Given the description of an element on the screen output the (x, y) to click on. 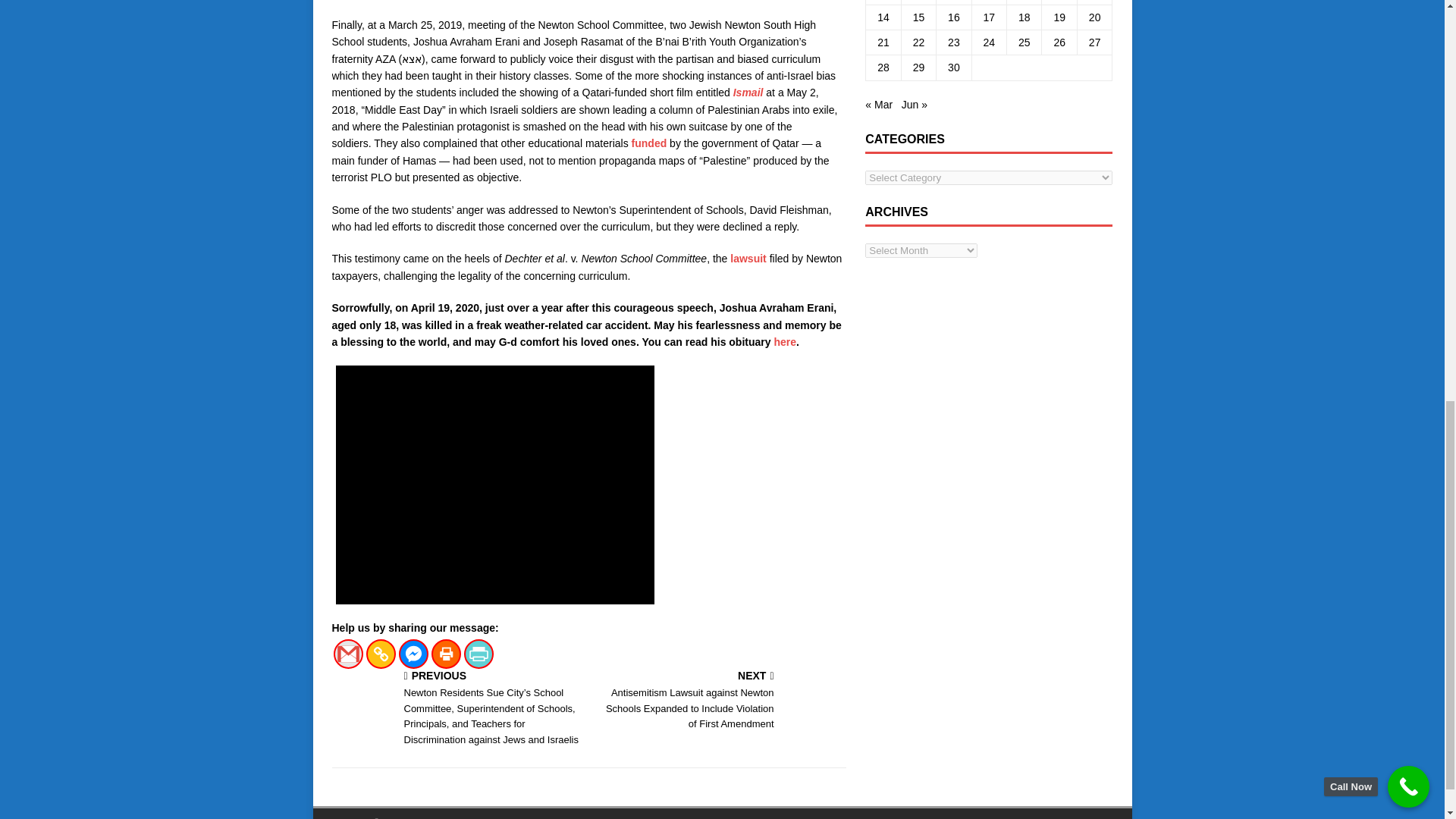
Google Gmail (347, 654)
Copy Link (379, 654)
PrintFriendly (478, 654)
Print (445, 654)
